Given the description of an element on the screen output the (x, y) to click on. 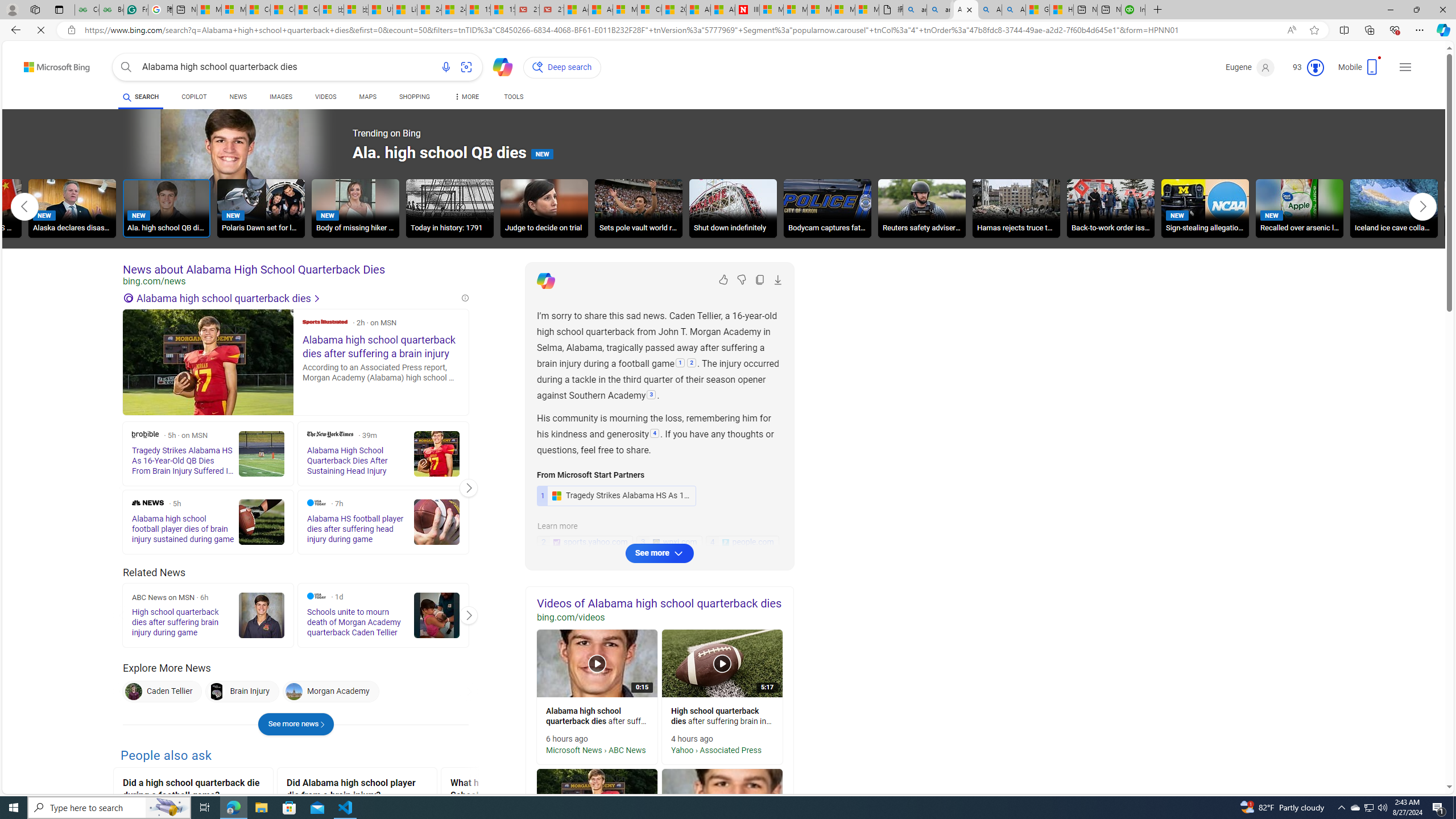
AutomationID: mfa_root (1406, 752)
USA TODAY - MSN (380, 9)
Brain Injury (241, 691)
Complete Guide to Arrays Data Structure - GeeksforGeeks (86, 9)
What happened to a Selma High School quarterback? (520, 791)
Caden Tellier (133, 691)
